Given the description of an element on the screen output the (x, y) to click on. 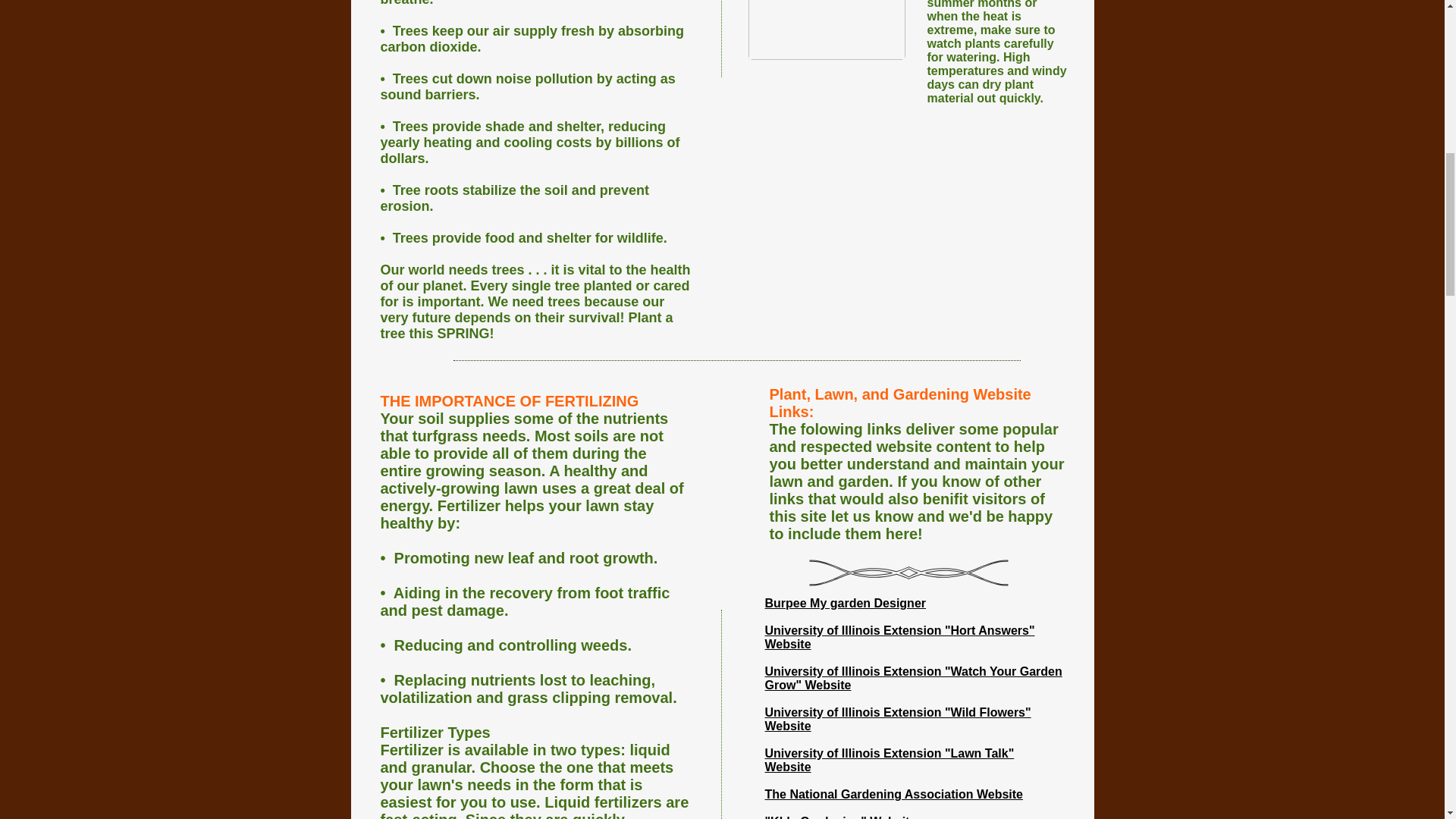
"KIds Gardening" Website (839, 816)
University of Illinois Extension "Lawn Talk" Website (888, 759)
Burpee My garden Designer (845, 603)
University of Illinois Extension "Hort Answers" Website (898, 637)
The National Gardening Association Website (893, 793)
University of Illinois Extension "Wild Flowers" Website (897, 718)
